Given the description of an element on the screen output the (x, y) to click on. 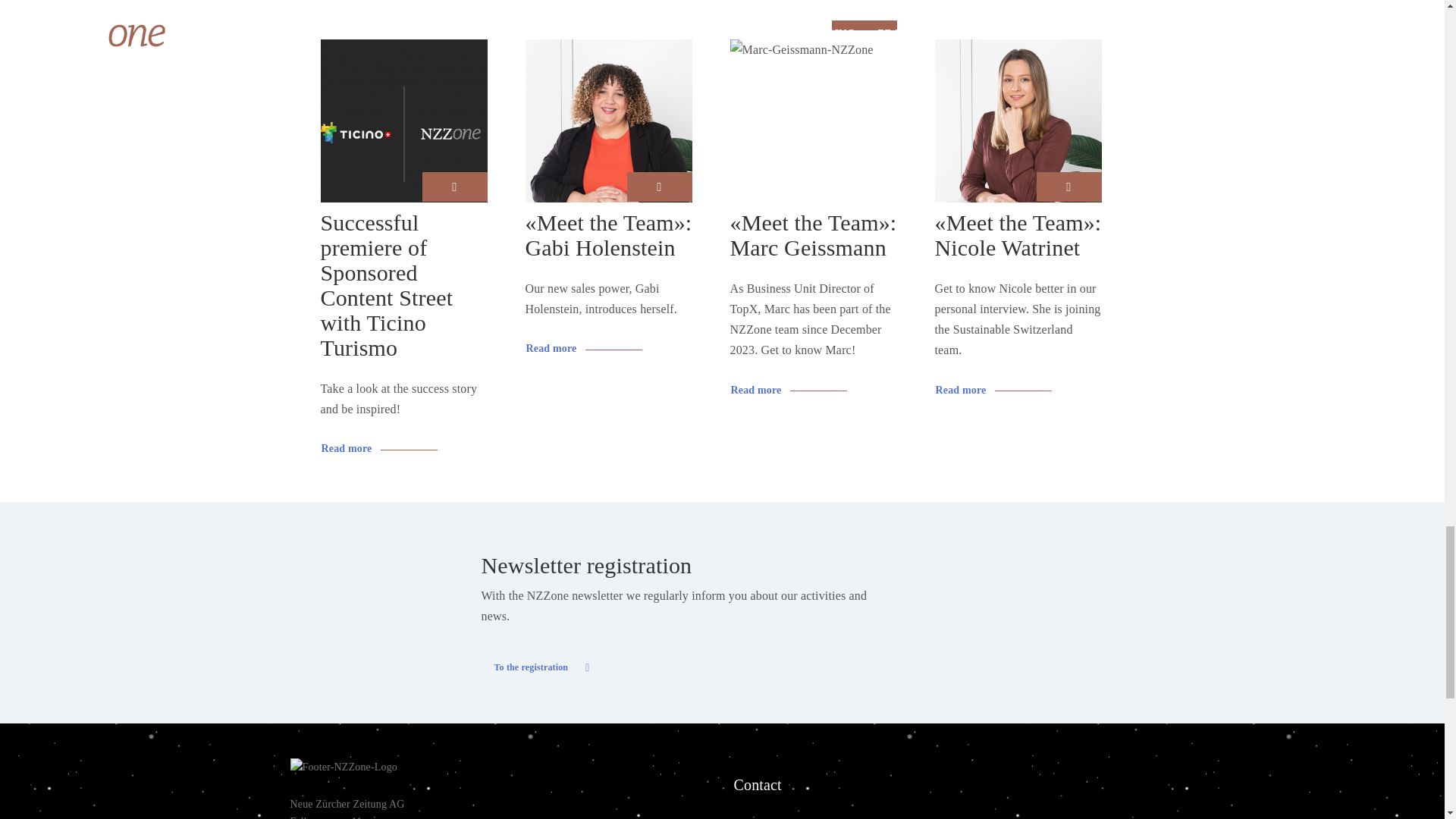
Read more (379, 448)
Read more (583, 348)
Read more (788, 390)
Marc-Geissmann-NZZone (800, 49)
